Given the description of an element on the screen output the (x, y) to click on. 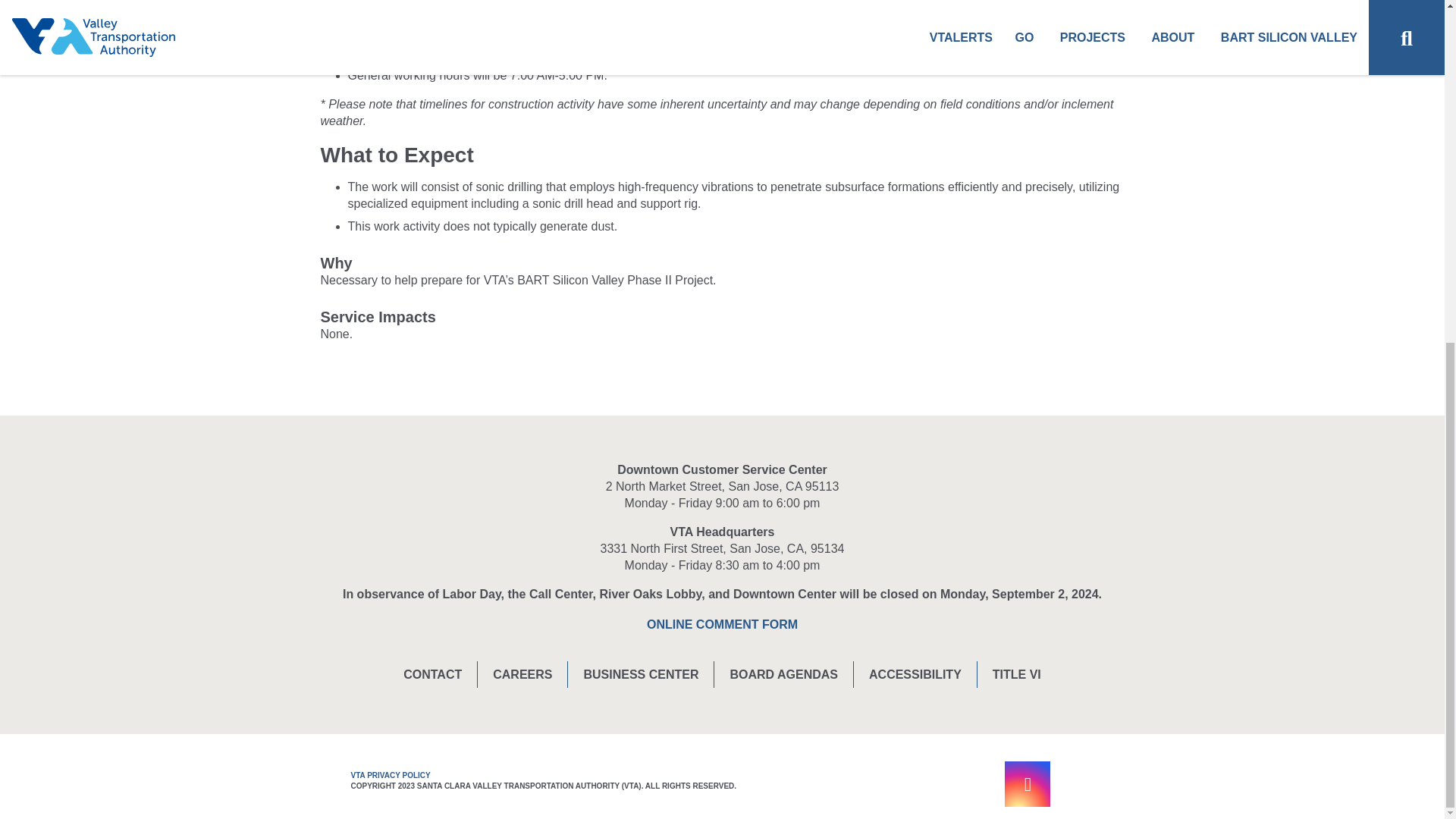
Privacy Policy (390, 775)
Follow us on Youtube (1071, 783)
Follow VTA on Instagram (1026, 783)
Follow VTA on Facebook (937, 783)
Follow VTA on Twitter (983, 783)
